Given the description of an element on the screen output the (x, y) to click on. 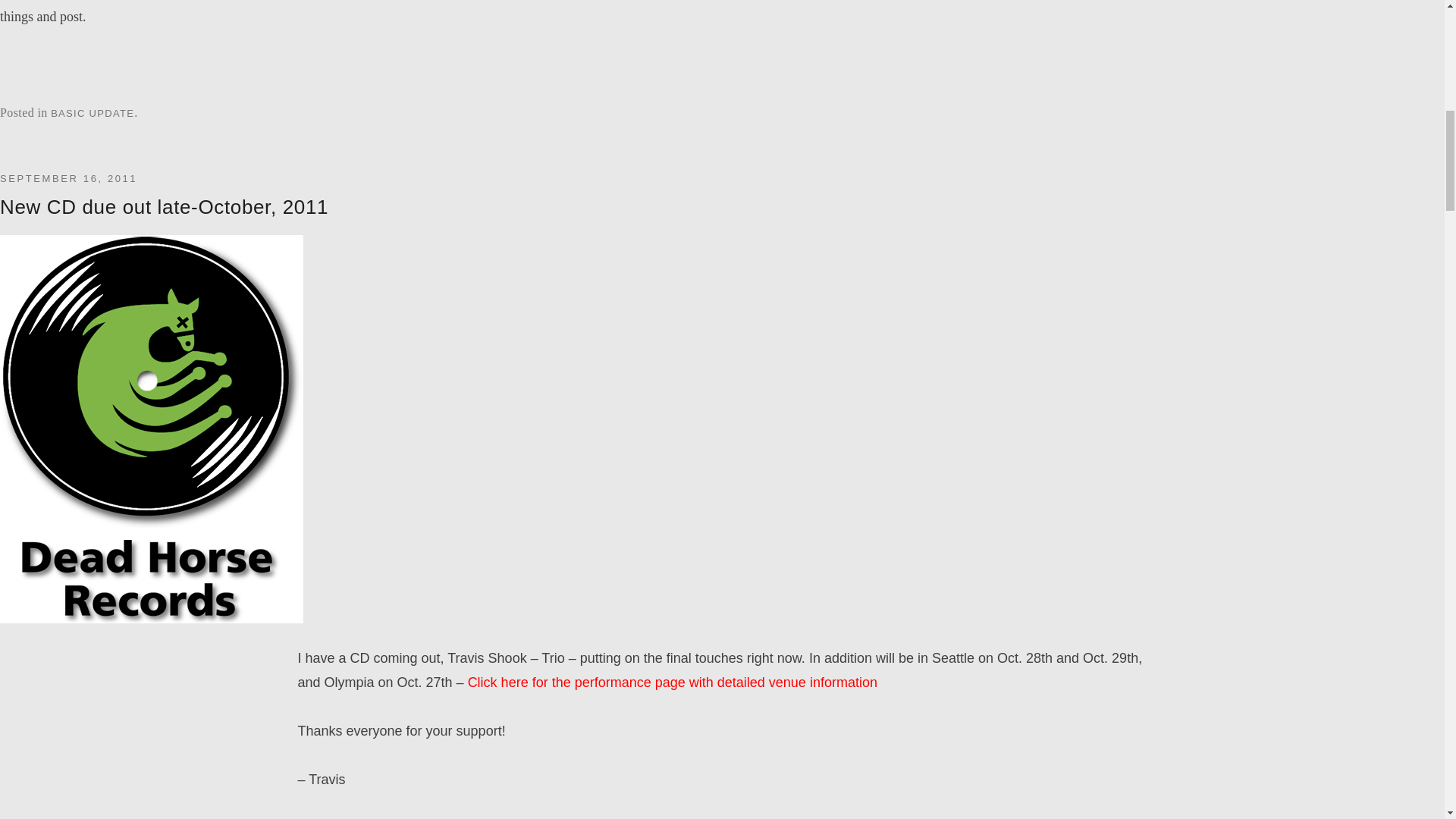
New CD due out late-October, 2011 (164, 206)
BASIC UPDATE (91, 112)
